Given the description of an element on the screen output the (x, y) to click on. 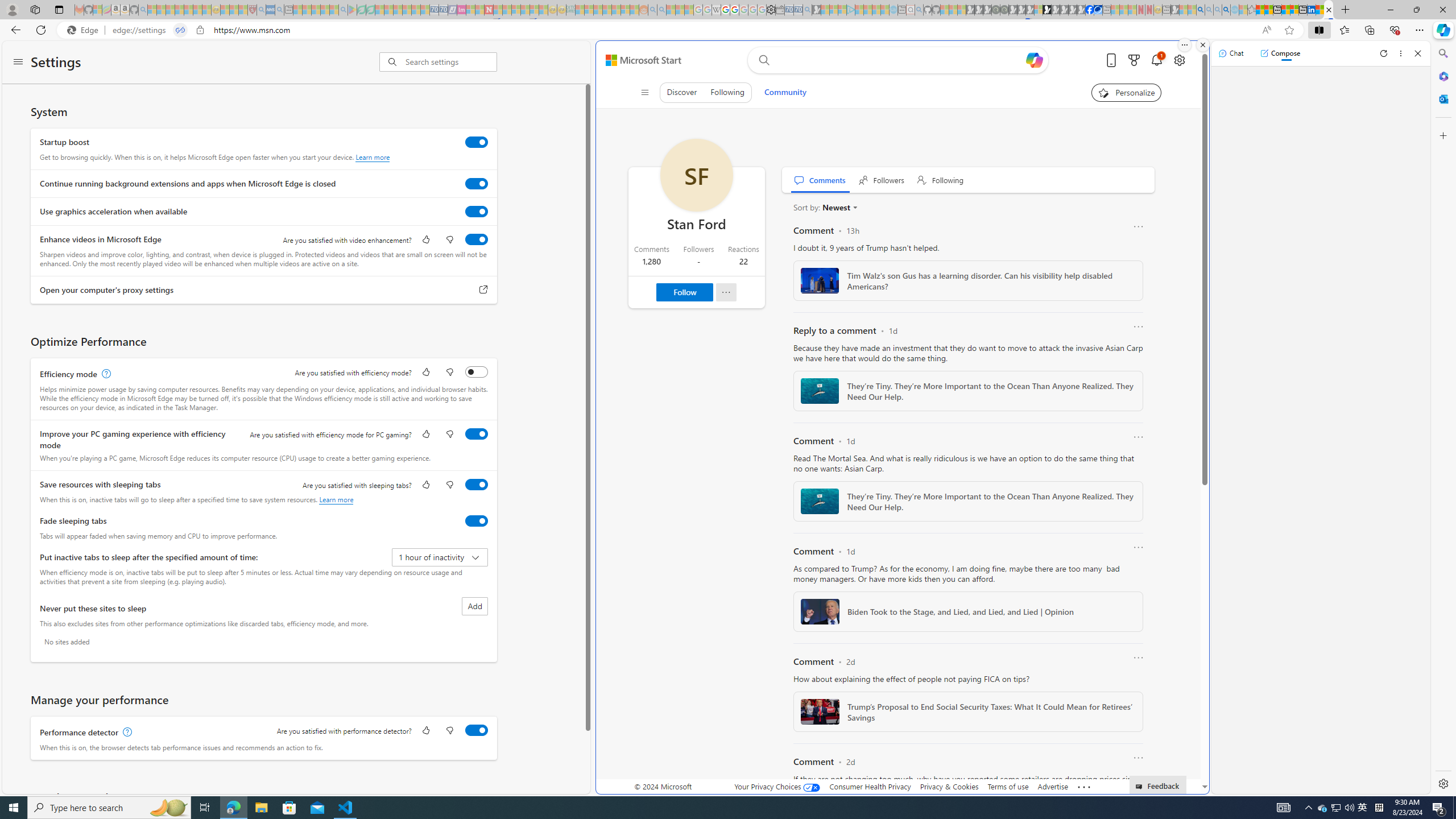
Open your computer's proxy settings (483, 290)
Settings menu (18, 62)
Google Chrome Internet Browser Download - Search Images (1225, 9)
